Given the description of an element on the screen output the (x, y) to click on. 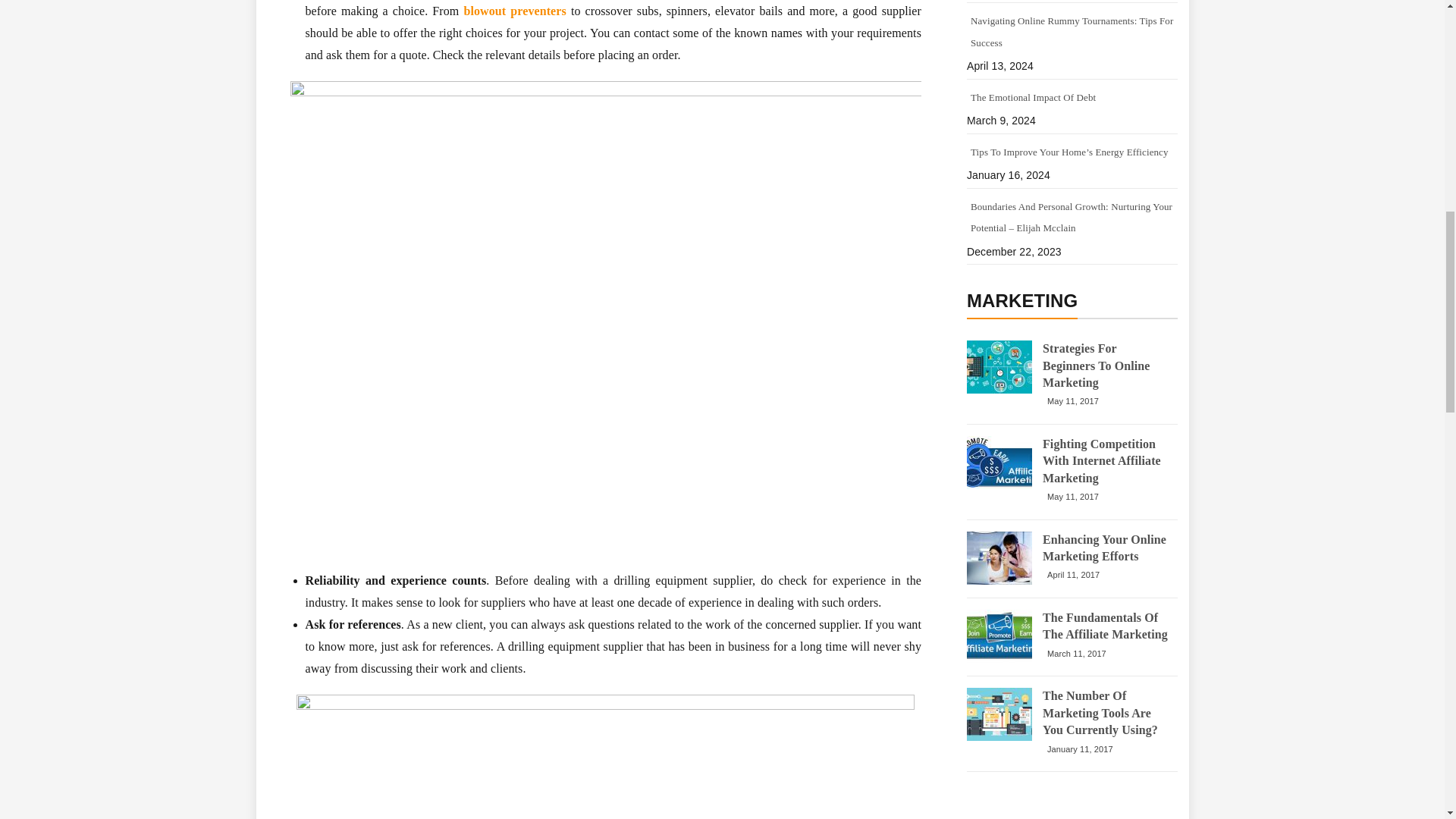
Strategies For Beginners To Online Marketing (1106, 365)
Strategies For Beginners To Online Marketing (999, 366)
Enhancing Your Online Marketing Efforts (999, 557)
Fighting Competition With Internet Affiliate Marketing (1106, 460)
Fighting Competition With Internet Affiliate Marketing (999, 461)
blowout preventers (514, 10)
Enhancing Your Online Marketing Efforts (1106, 548)
The Fundamentals of the Affiliate Marketing (999, 635)
